Given the description of an element on the screen output the (x, y) to click on. 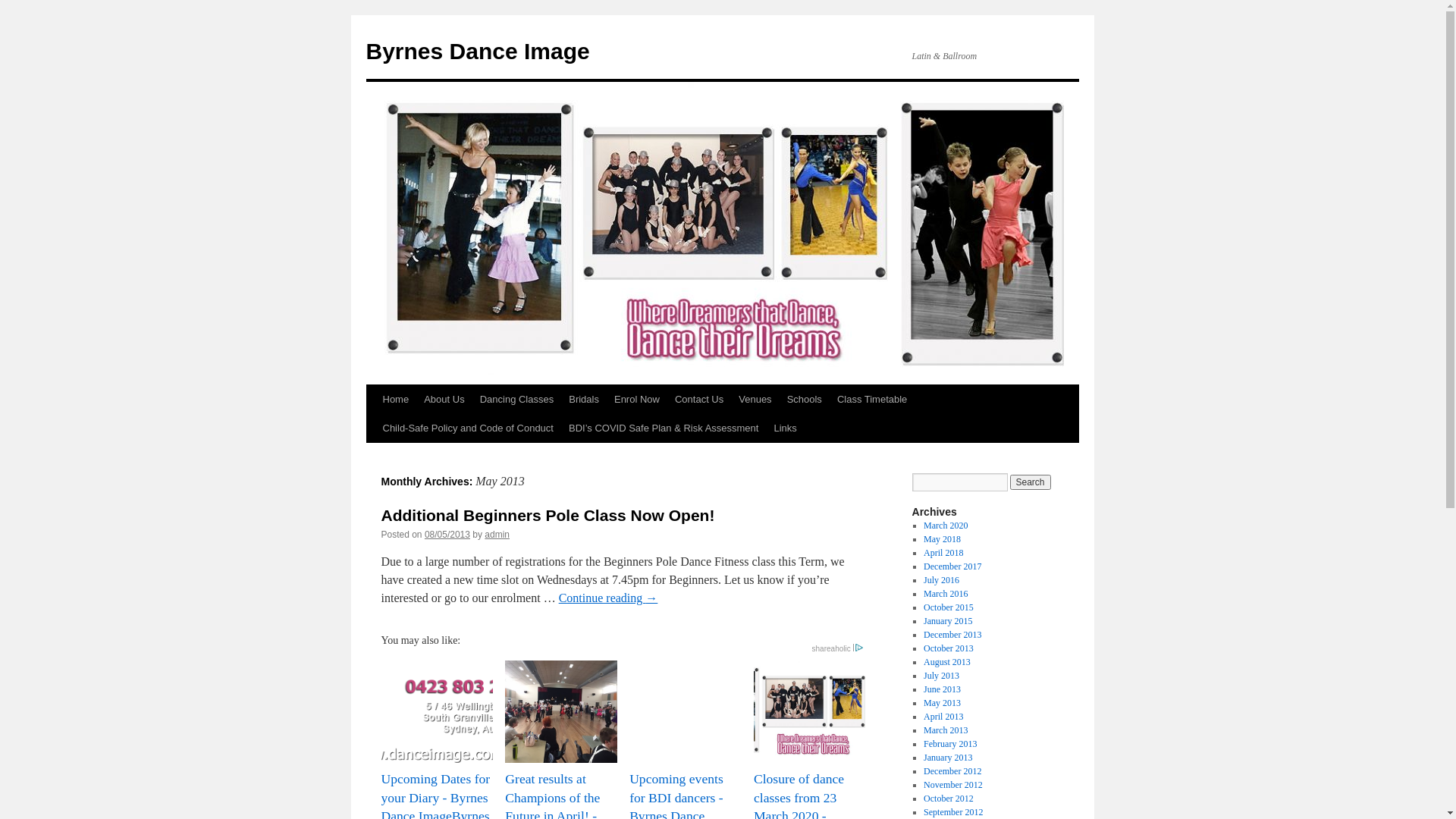
Class Timetable Element type: text (871, 399)
September 2012 Element type: text (952, 811)
June 2013 Element type: text (941, 689)
08/05/2013 Element type: text (447, 534)
About Us Element type: text (443, 399)
March 2020 Element type: text (945, 525)
Dancing Classes Element type: text (516, 399)
October 2012 Element type: text (948, 798)
October 2015 Element type: text (948, 607)
December 2017 Element type: text (952, 566)
April 2013 Element type: text (943, 716)
Child-Safe Policy and Code of Conduct Element type: text (467, 428)
shareaholic Element type: text (838, 648)
Contact Us Element type: text (699, 399)
May 2013 Element type: text (941, 702)
March 2016 Element type: text (945, 593)
Venues Element type: text (754, 399)
August 2013 Element type: text (946, 661)
Additional Beginners Pole Class Now Open! Element type: text (547, 515)
Search Element type: text (1030, 481)
July 2013 Element type: text (941, 675)
December 2012 Element type: text (952, 770)
December 2013 Element type: text (952, 634)
Enrol Now Element type: text (636, 399)
May 2018 Element type: text (941, 538)
November 2012 Element type: text (952, 784)
October 2013 Element type: text (948, 648)
July 2016 Element type: text (941, 579)
January 2015 Element type: text (947, 620)
March 2013 Element type: text (945, 729)
Bridals Element type: text (583, 399)
January 2013 Element type: text (947, 757)
April 2018 Element type: text (943, 552)
Schools Element type: text (804, 399)
Links Element type: text (784, 428)
Skip to content Element type: text (372, 427)
Byrnes Dance Image Element type: text (477, 50)
admin Element type: text (496, 534)
Home Element type: text (395, 399)
February 2013 Element type: text (949, 743)
